Given the description of an element on the screen output the (x, y) to click on. 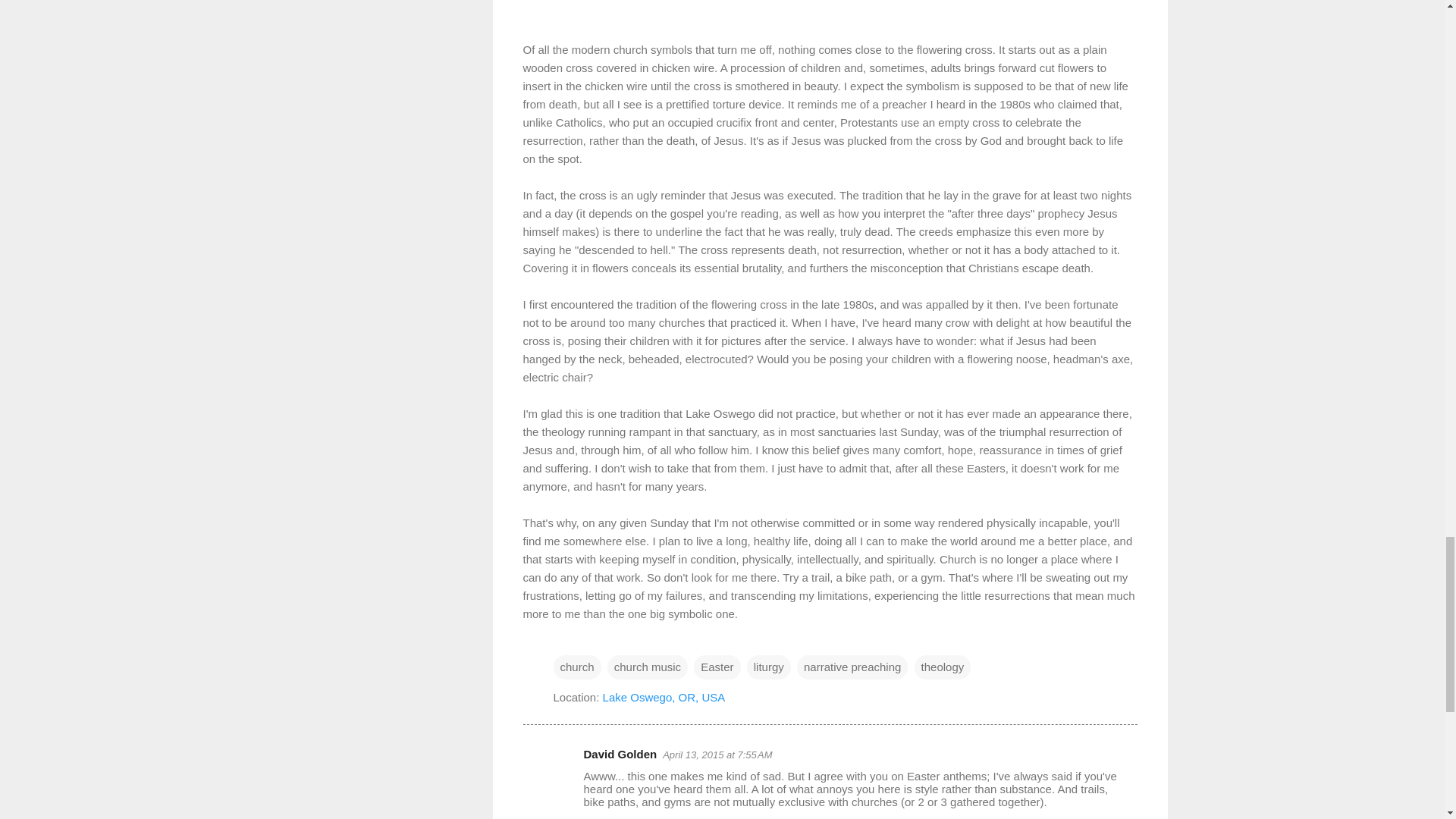
church (577, 667)
David Golden (620, 753)
church music (647, 667)
theology (942, 667)
Easter (716, 667)
narrative preaching (851, 667)
liturgy (768, 667)
Lake Oswego, OR, USA (663, 696)
